Given the description of an element on the screen output the (x, y) to click on. 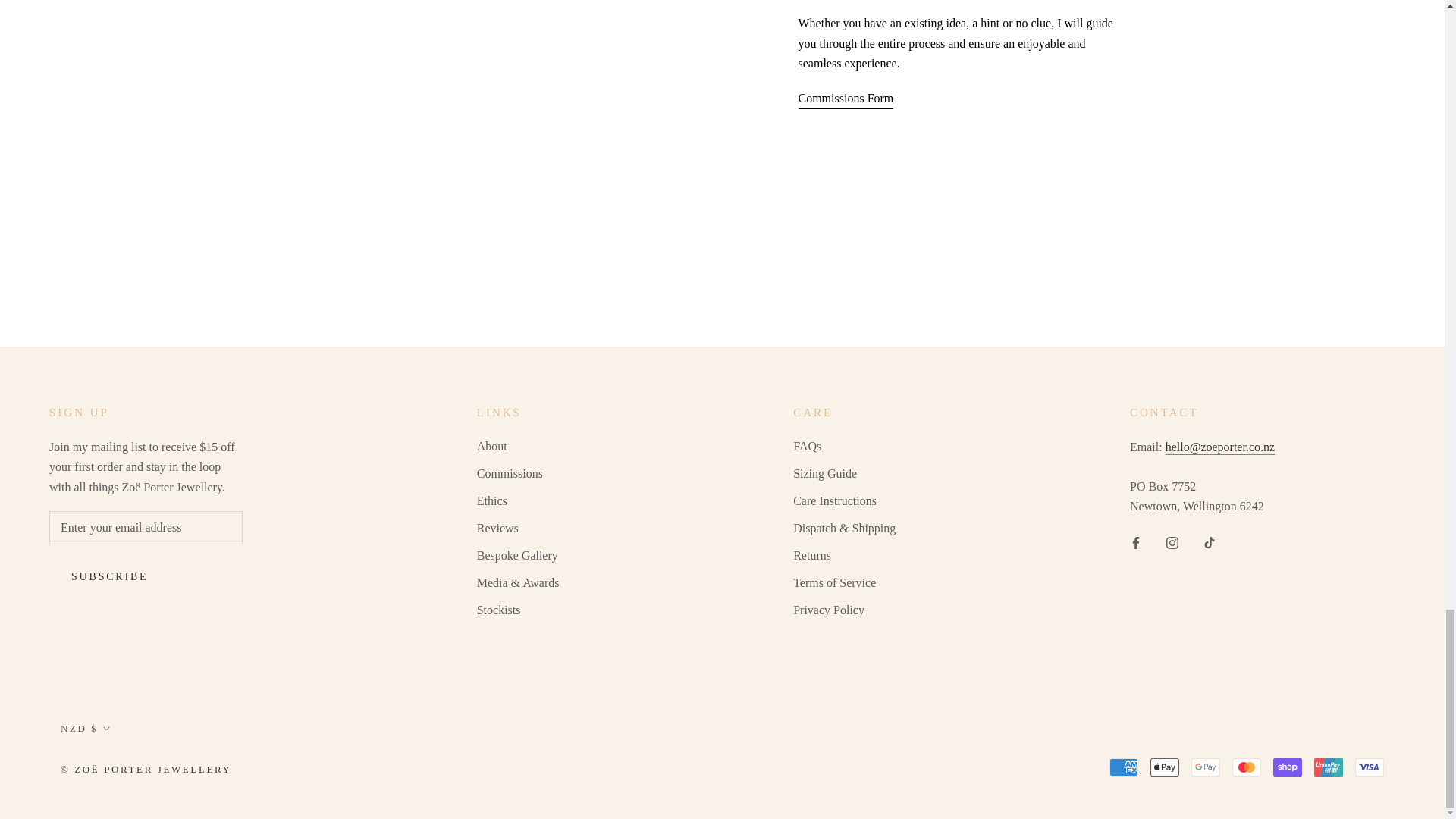
Apple Pay (1164, 767)
Shop Pay (1286, 767)
Union Pay (1328, 767)
Visa (1369, 767)
Google Pay (1205, 767)
American Express (1123, 767)
Mastercard (1245, 767)
